Given the description of an element on the screen output the (x, y) to click on. 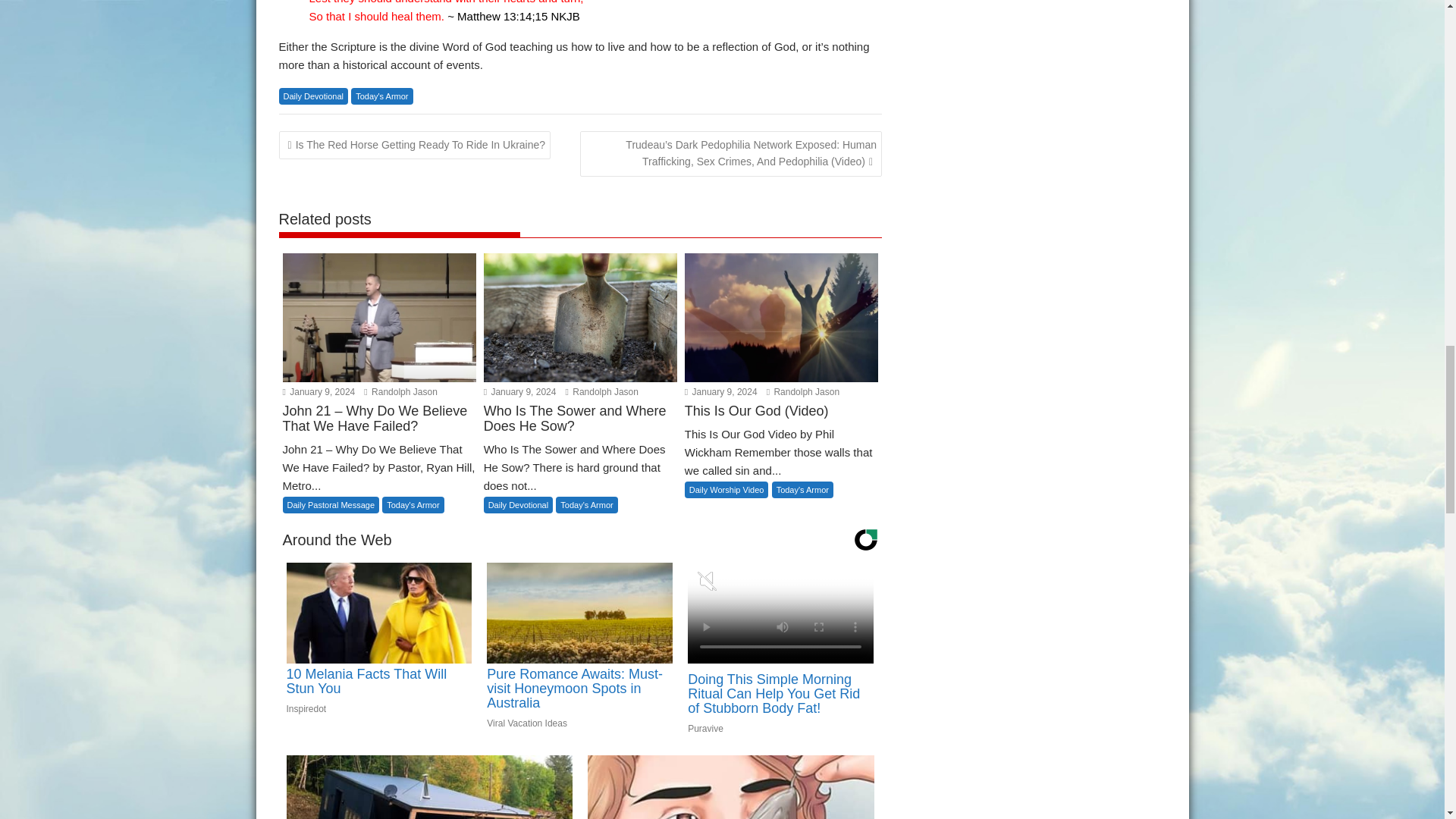
Randolph Jason (602, 391)
Randolph Jason (400, 391)
Randolph Jason (803, 391)
